Given the description of an element on the screen output the (x, y) to click on. 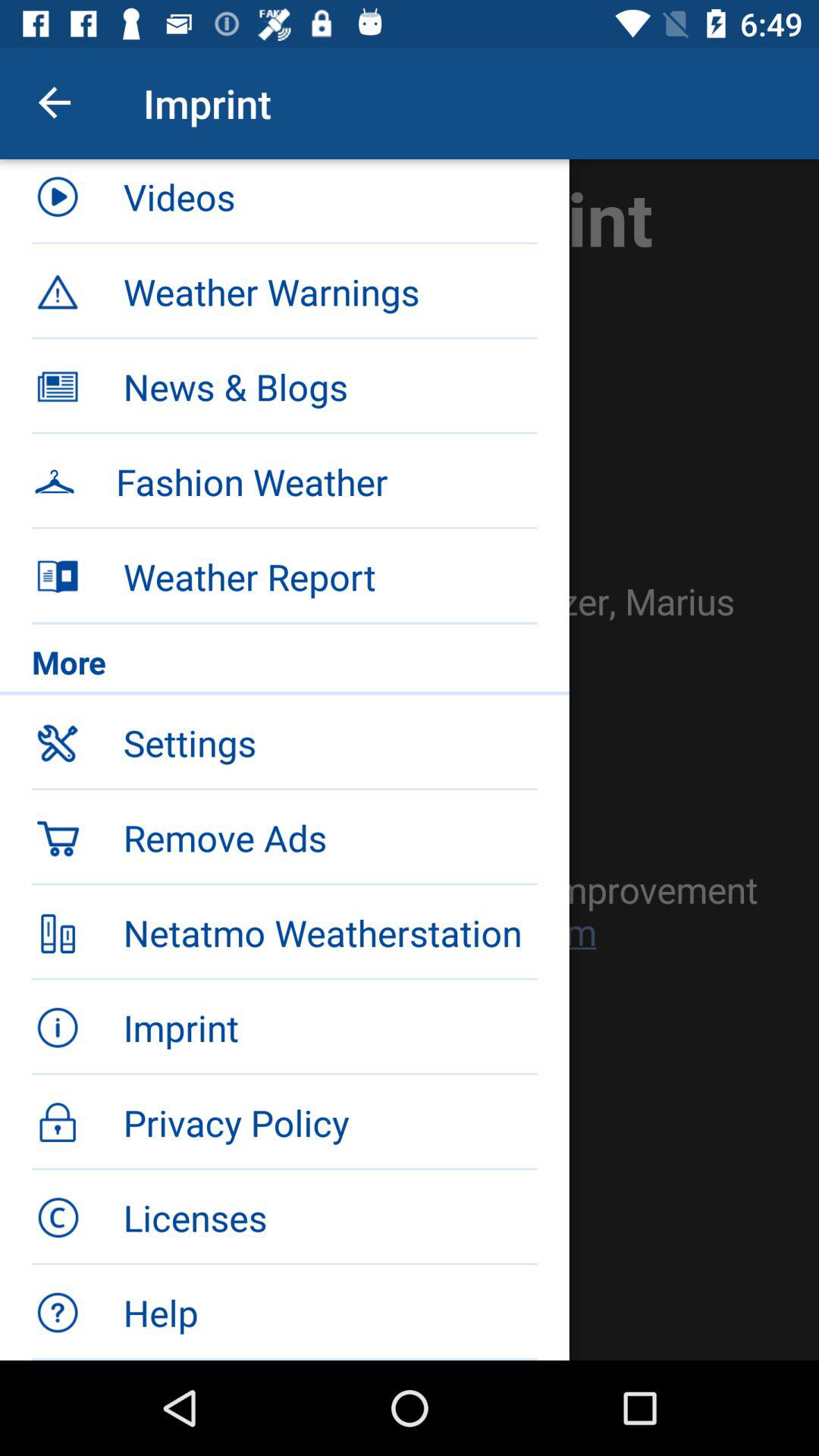
choose the videos item (330, 201)
